Given the description of an element on the screen output the (x, y) to click on. 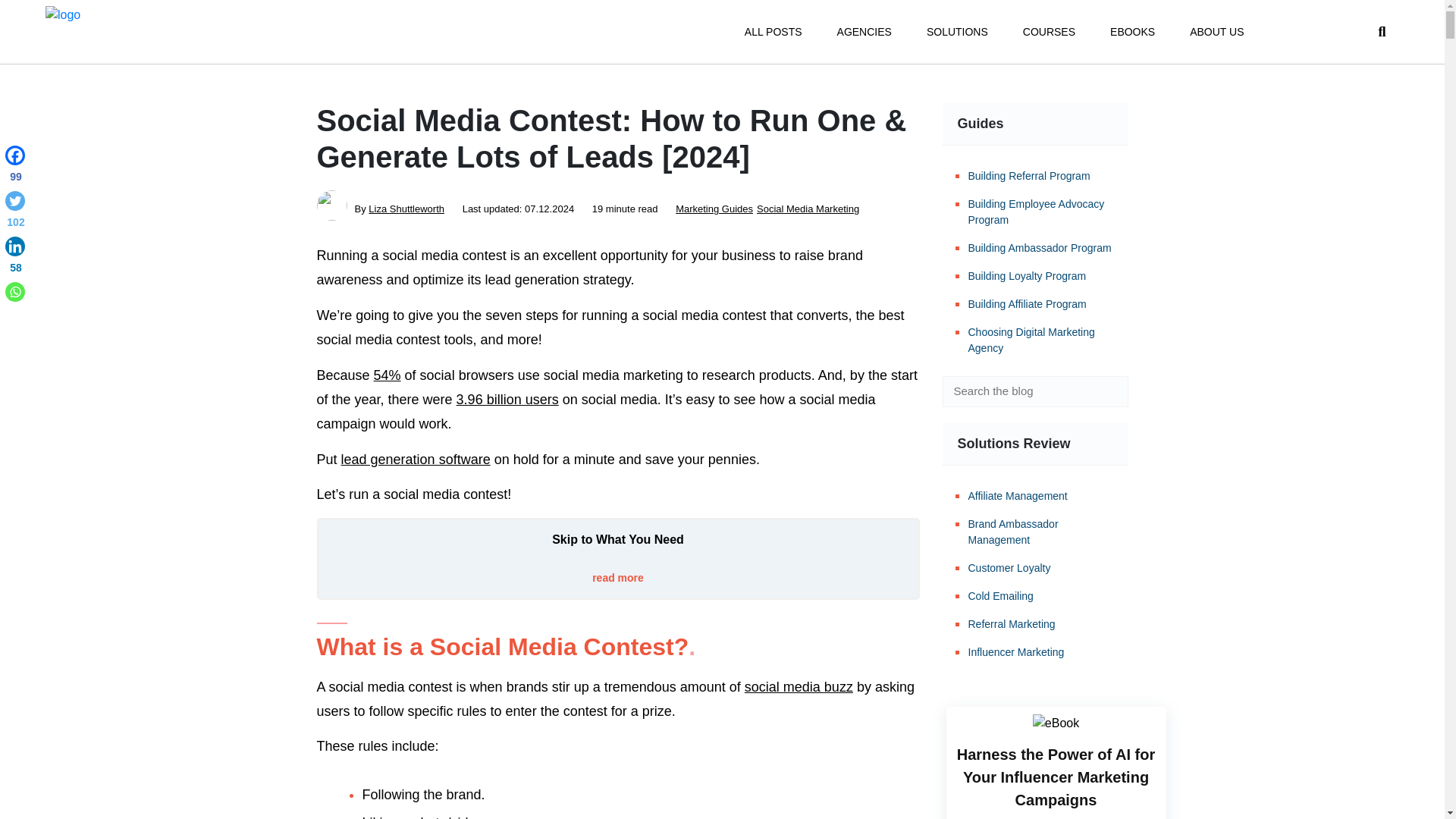
SOLUTIONS (957, 31)
Search (1105, 391)
Twitter (14, 211)
AGENCIES (864, 31)
Linkedin (14, 257)
Whatsapp (14, 291)
Facebook (14, 166)
Search (1105, 391)
ALL POSTS (772, 31)
